Given the description of an element on the screen output the (x, y) to click on. 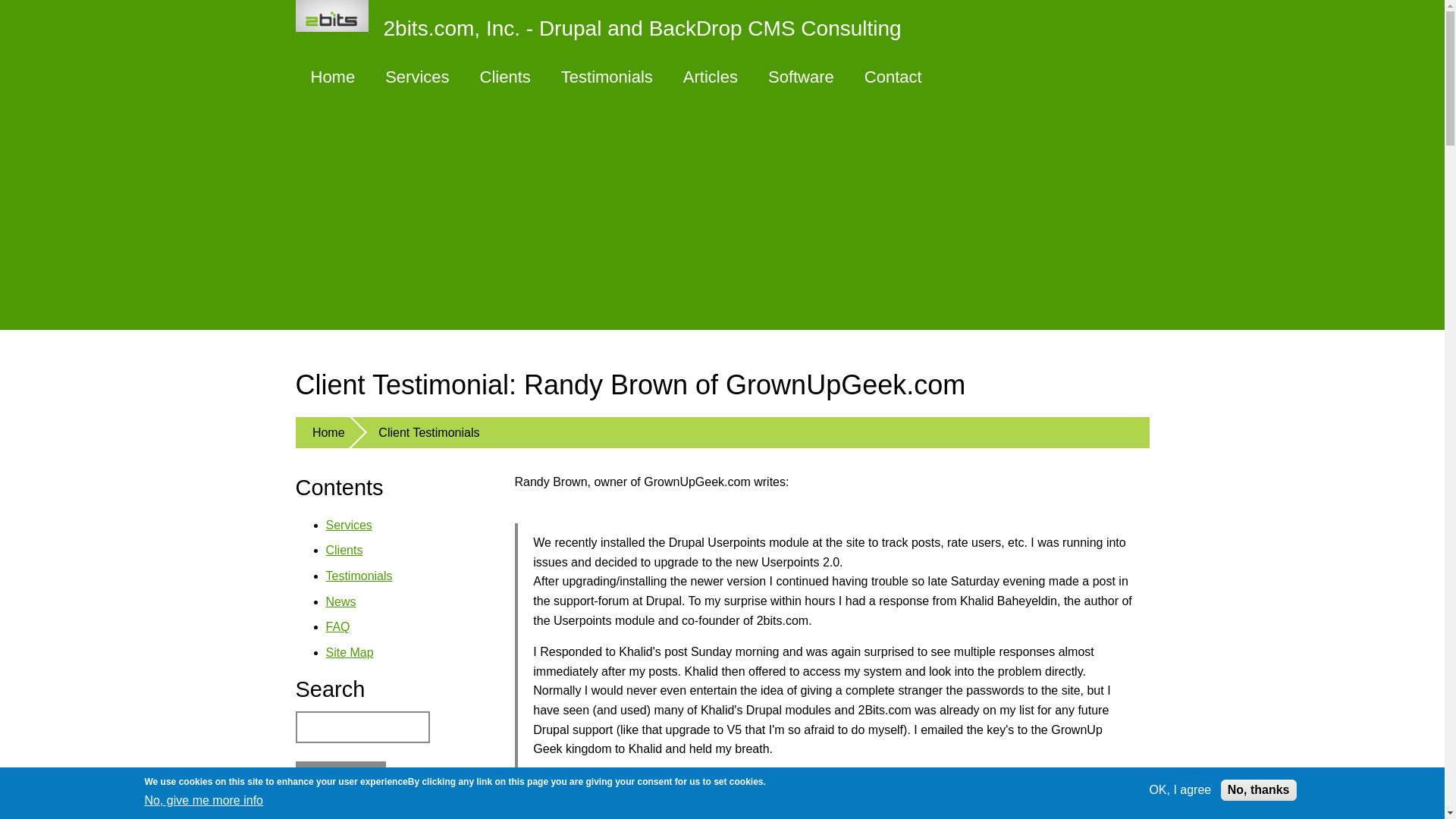
Home (606, 25)
Home page  (333, 76)
Home (328, 432)
FAQ (338, 626)
Testimonials (607, 76)
A sample list of clients we have helped recently. (505, 76)
Search (340, 778)
Search (340, 778)
Services (349, 524)
